Given the description of an element on the screen output the (x, y) to click on. 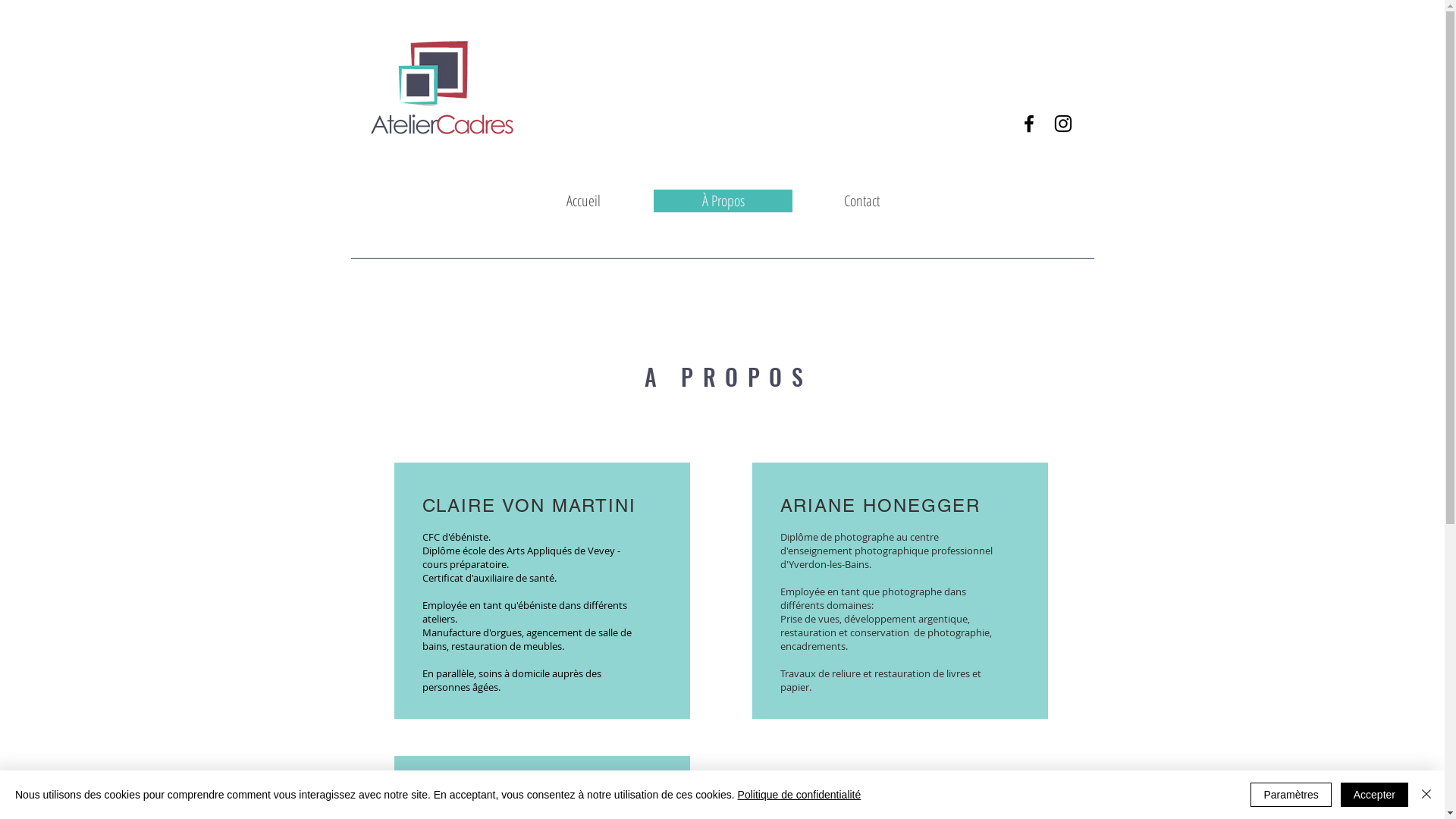
Contact Element type: text (860, 200)
Accueil Element type: text (583, 200)
Accepter Element type: text (1374, 794)
